Given the description of an element on the screen output the (x, y) to click on. 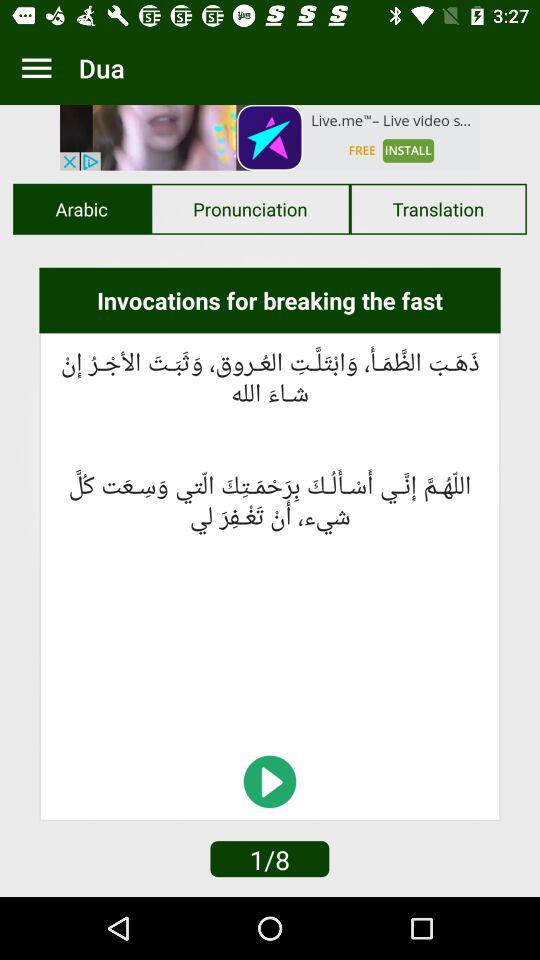
shows option symbol (36, 68)
